Given the description of an element on the screen output the (x, y) to click on. 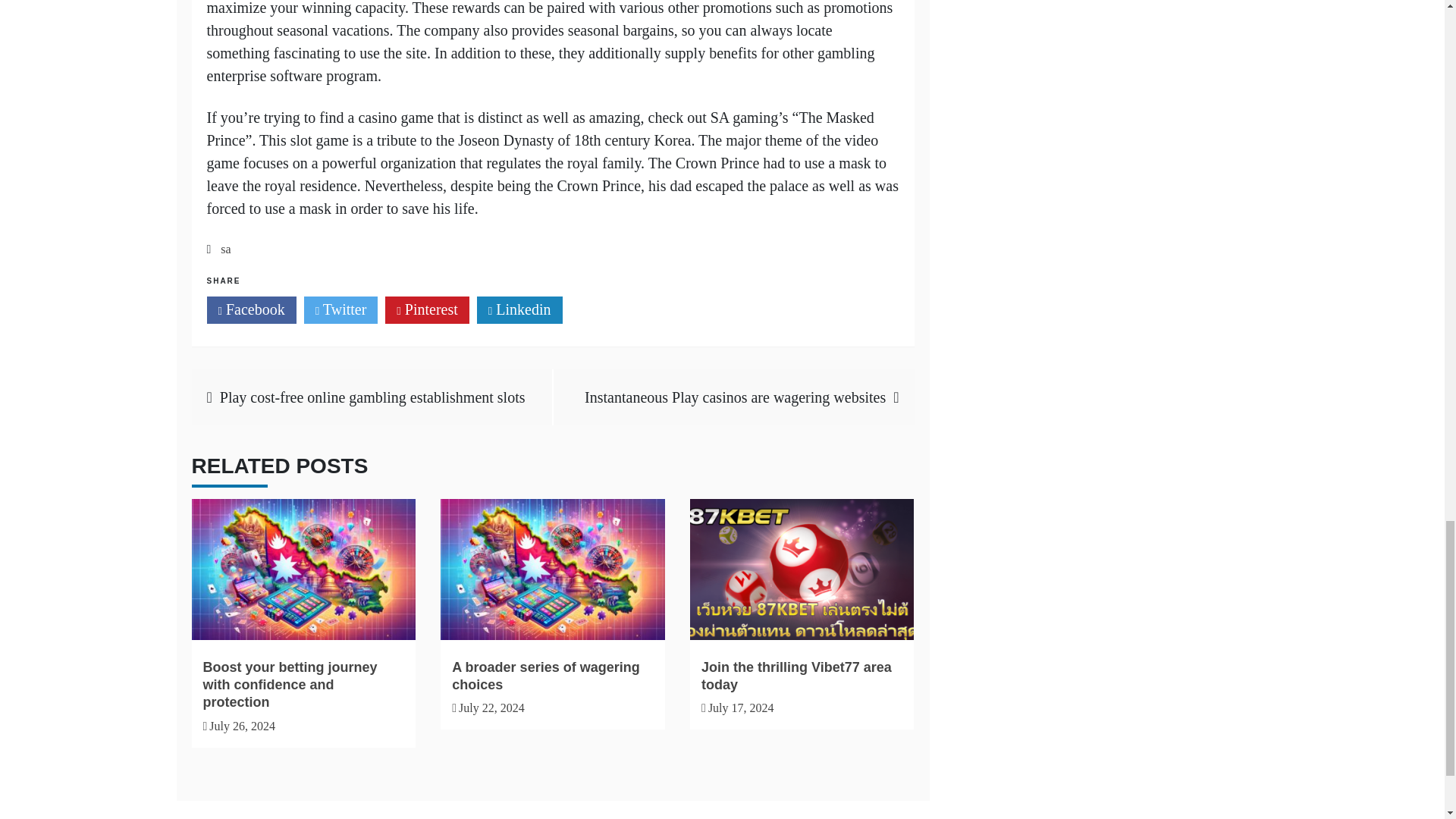
Twitter (341, 309)
Pinterest (426, 309)
Facebook (250, 309)
July 26, 2024 (242, 725)
Boost your betting journey with confidence and protection (290, 685)
Linkedin (519, 309)
Play cost-free online gambling establishment slots (372, 397)
Instantaneous Play casinos are wagering websites (735, 397)
